Given the description of an element on the screen output the (x, y) to click on. 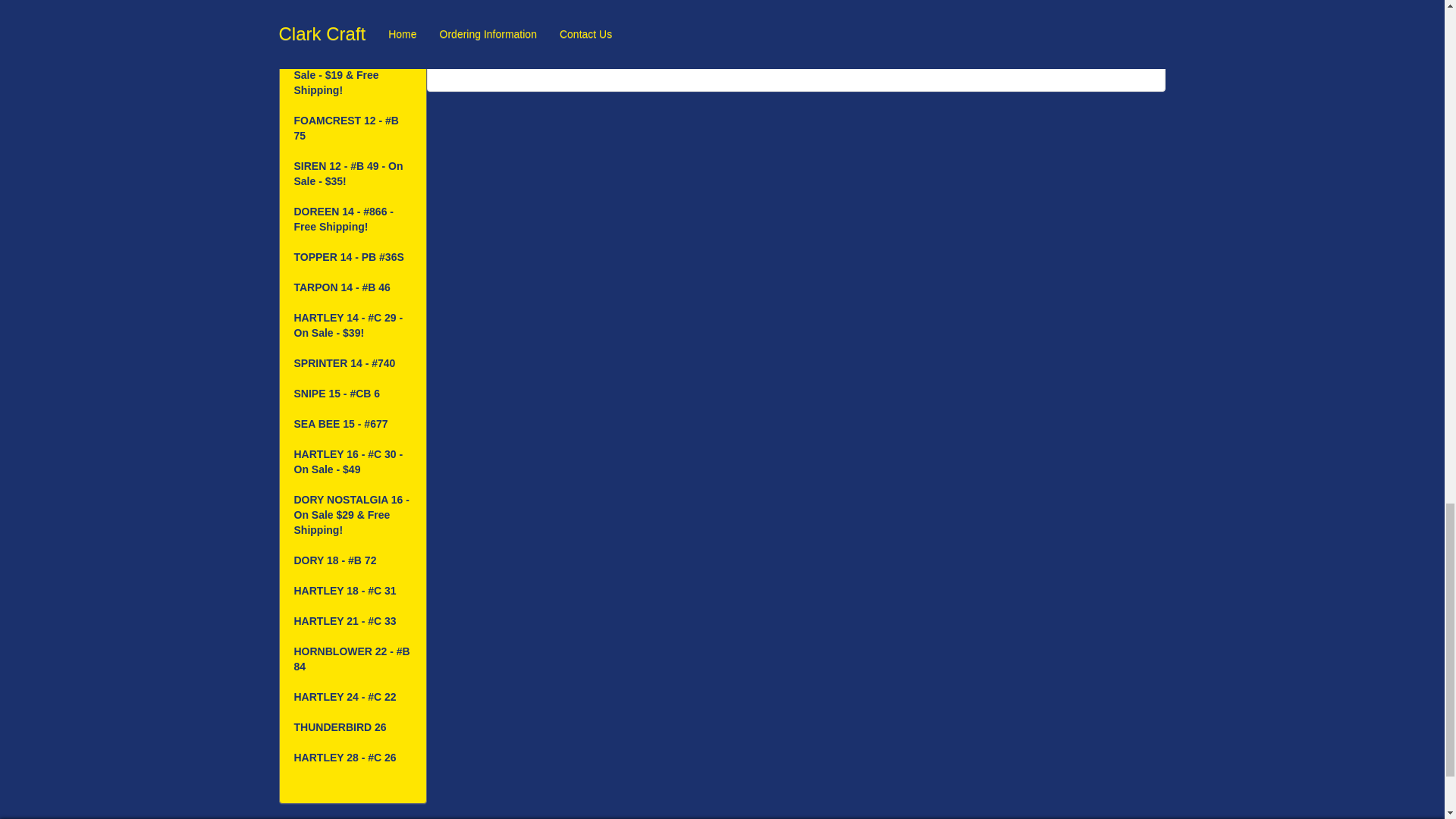
View Cart (554, 49)
Add to Cart (482, 49)
Reset Choices (635, 49)
